Given the description of an element on the screen output the (x, y) to click on. 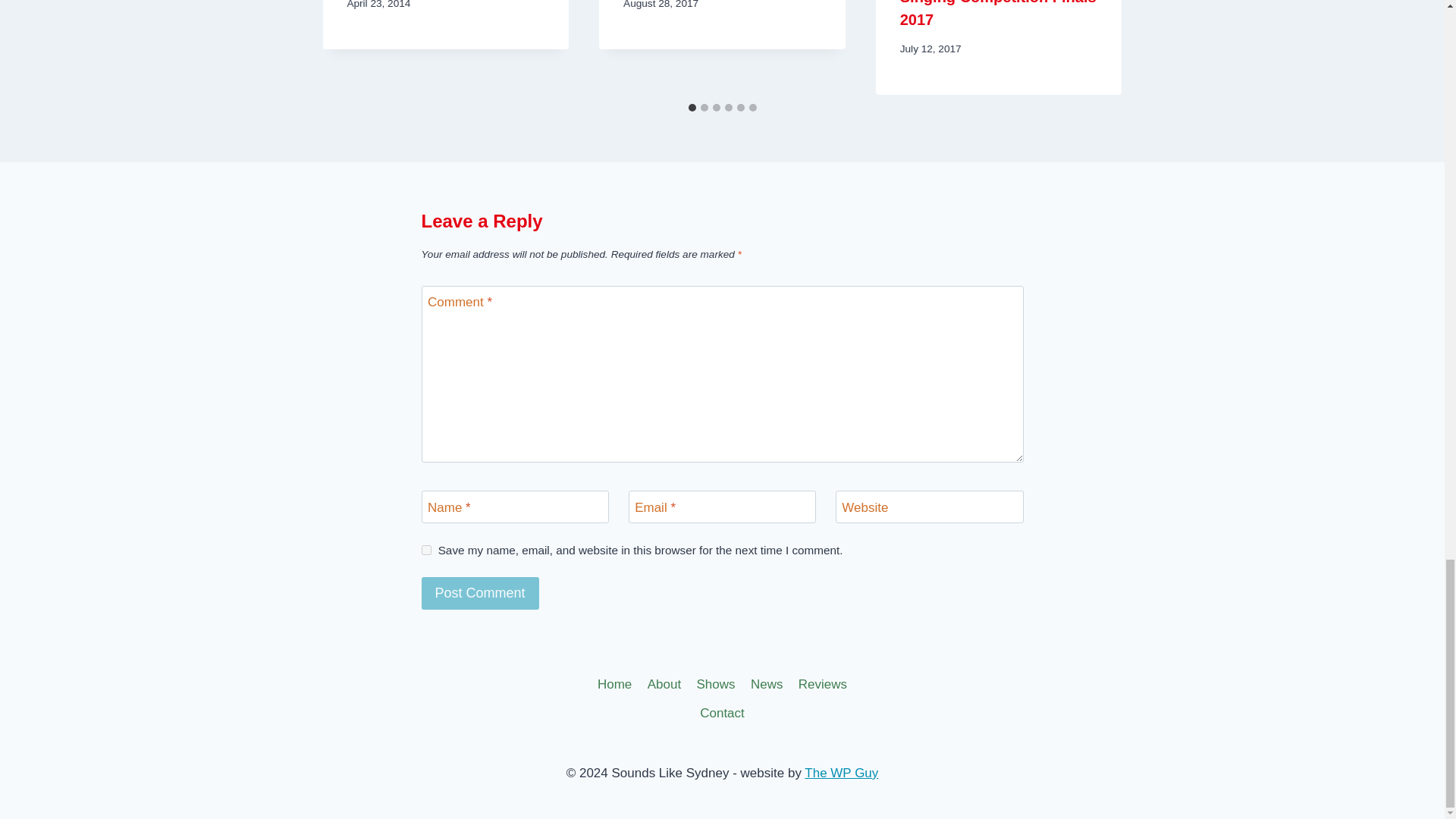
Post Comment (480, 593)
yes (426, 550)
